Given the description of an element on the screen output the (x, y) to click on. 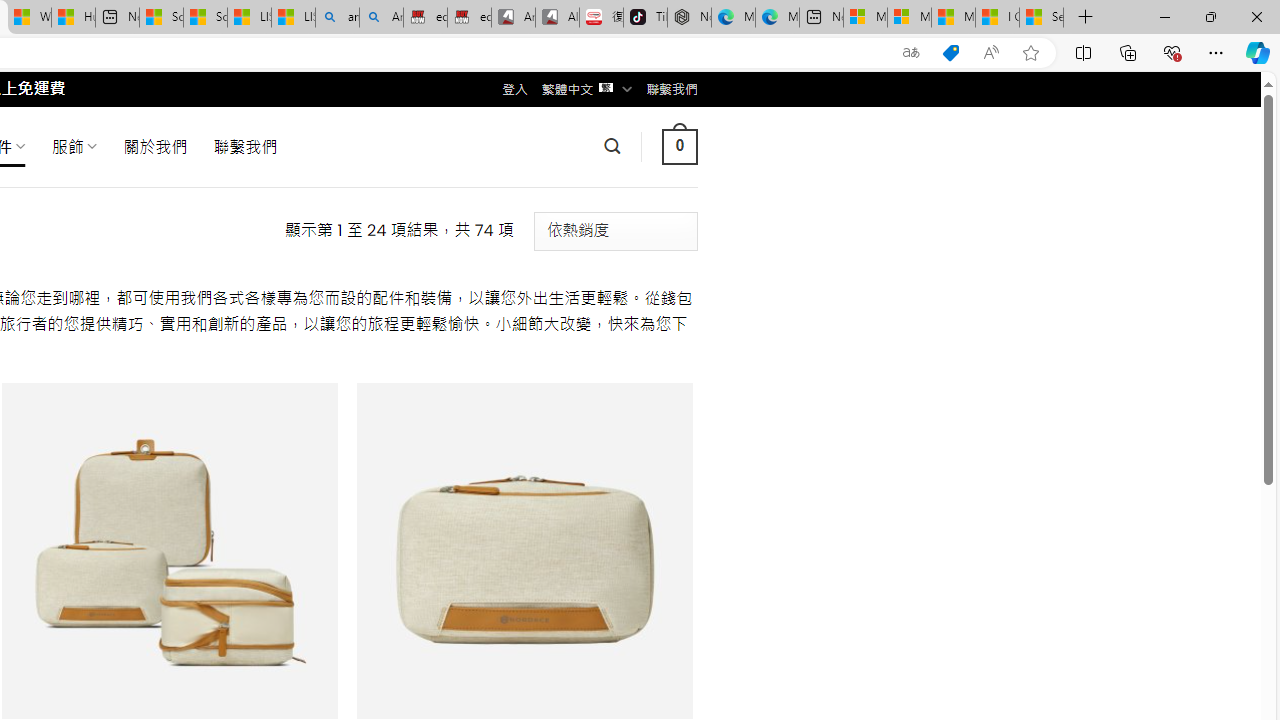
Show translate options (910, 53)
